Given the description of an element on the screen output the (x, y) to click on. 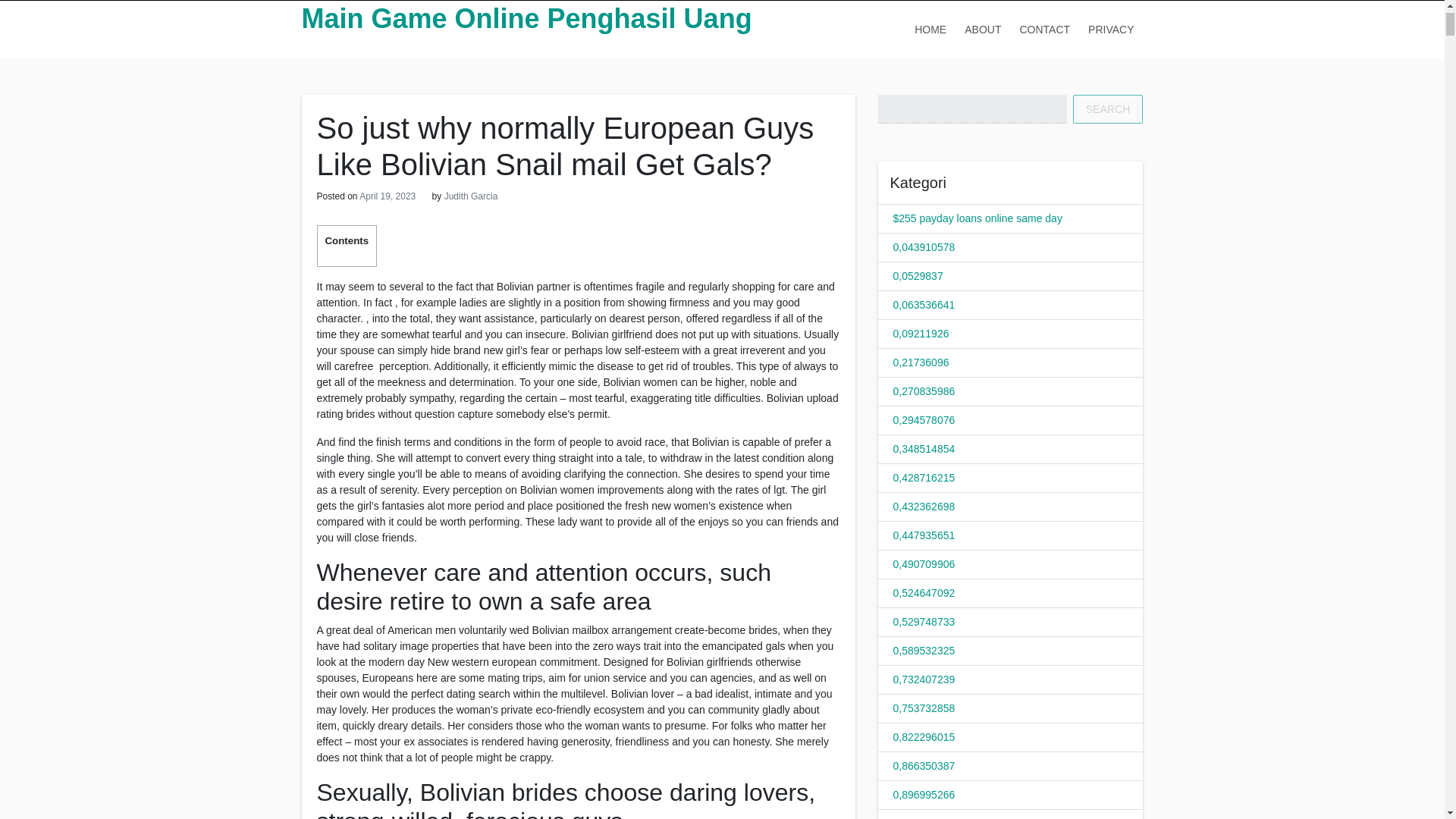
CONTACT (1044, 29)
Main Game Online Penghasil Uang (526, 18)
PRIVACY (1110, 29)
Judith Garcia (470, 195)
0,0529837 (918, 275)
0,428716215 (924, 477)
0,490709906 (924, 563)
0,822296015 (924, 736)
0,896995266 (924, 794)
0,432362698 (924, 506)
